Given the description of an element on the screen output the (x, y) to click on. 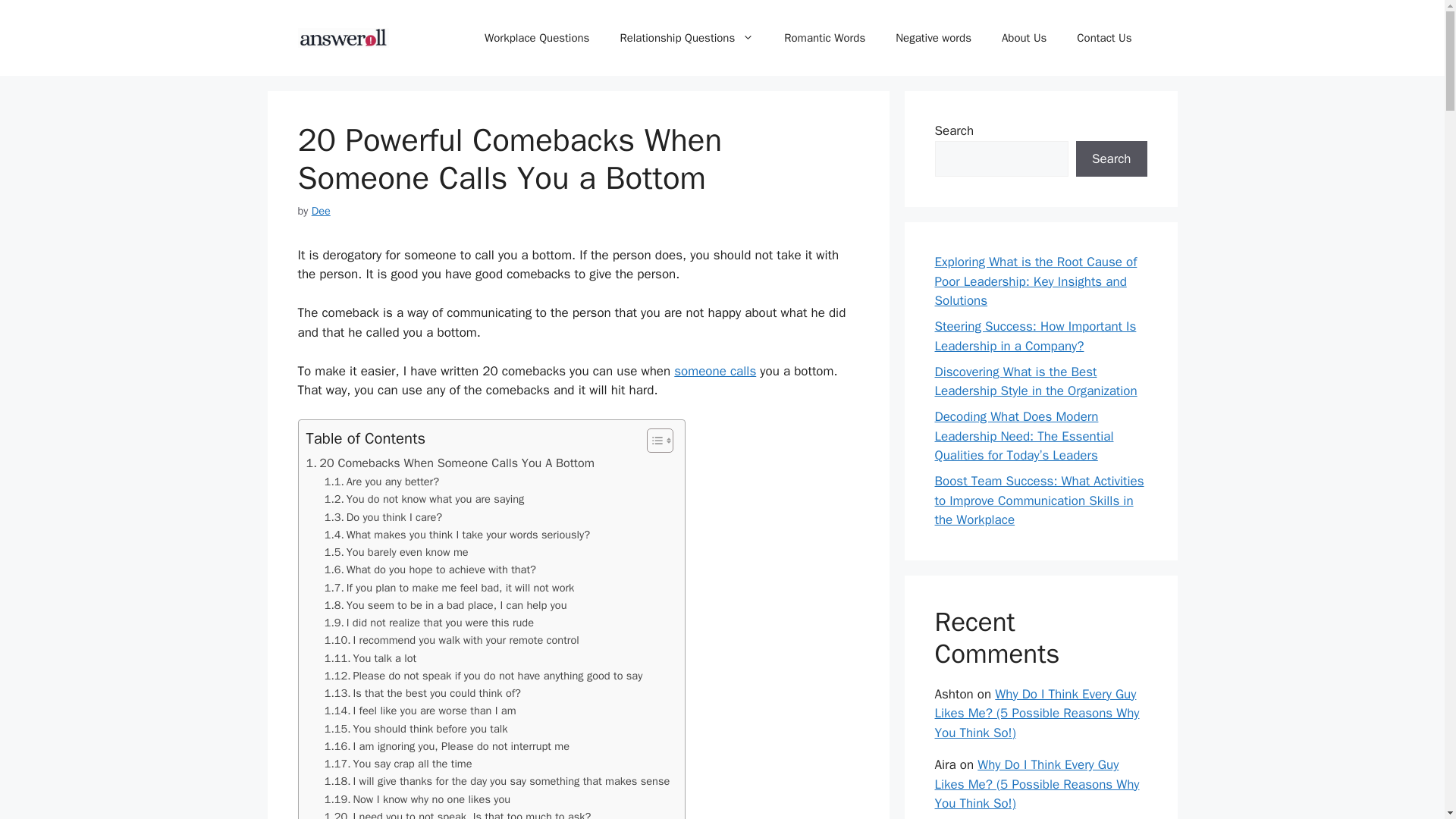
You say crap all the time (397, 764)
View all posts by Dee (320, 210)
I am ignoring you, Please do not interrupt me (446, 746)
You should think before you talk (416, 728)
I did not realize that you were this rude (429, 622)
You seem to be in a bad place, I can help you (445, 605)
Now I know why no one likes you (417, 799)
What makes you think I take your words seriously? (456, 534)
What do you hope to achieve with that? (429, 569)
Workplace Questions (536, 37)
I feel like you are worse than I am (420, 710)
Romantic Words (824, 37)
someone calls (714, 371)
What makes you think I take your words seriously? (456, 534)
You talk a lot (370, 658)
